Given the description of an element on the screen output the (x, y) to click on. 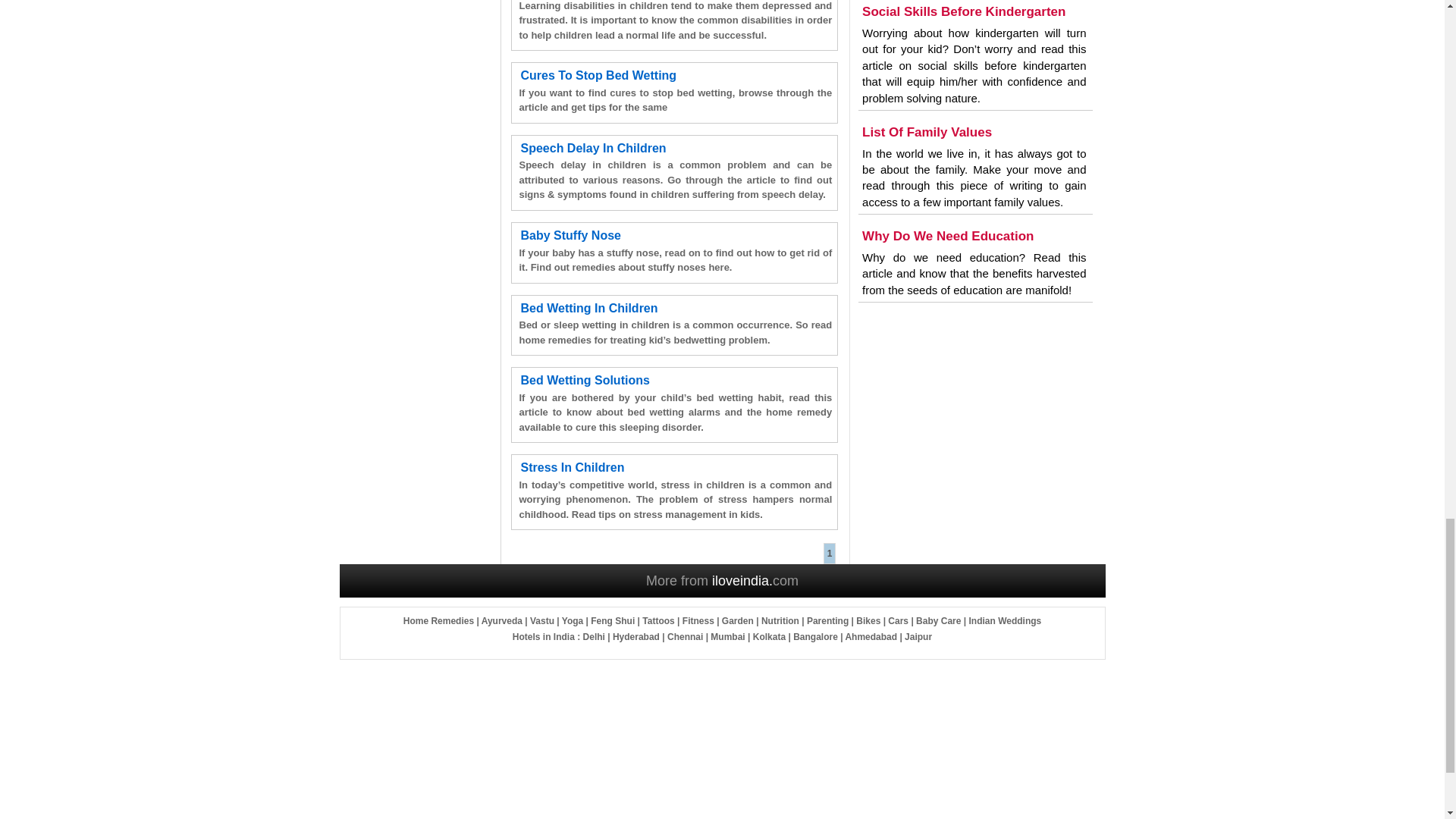
Bed Wetting In Children (588, 308)
Bed Wetting Solutions (584, 379)
Speech Delay In Children (592, 147)
Baby Stuffy Nose (569, 235)
Cures To Stop Bed Wetting (598, 74)
